Given the description of an element on the screen output the (x, y) to click on. 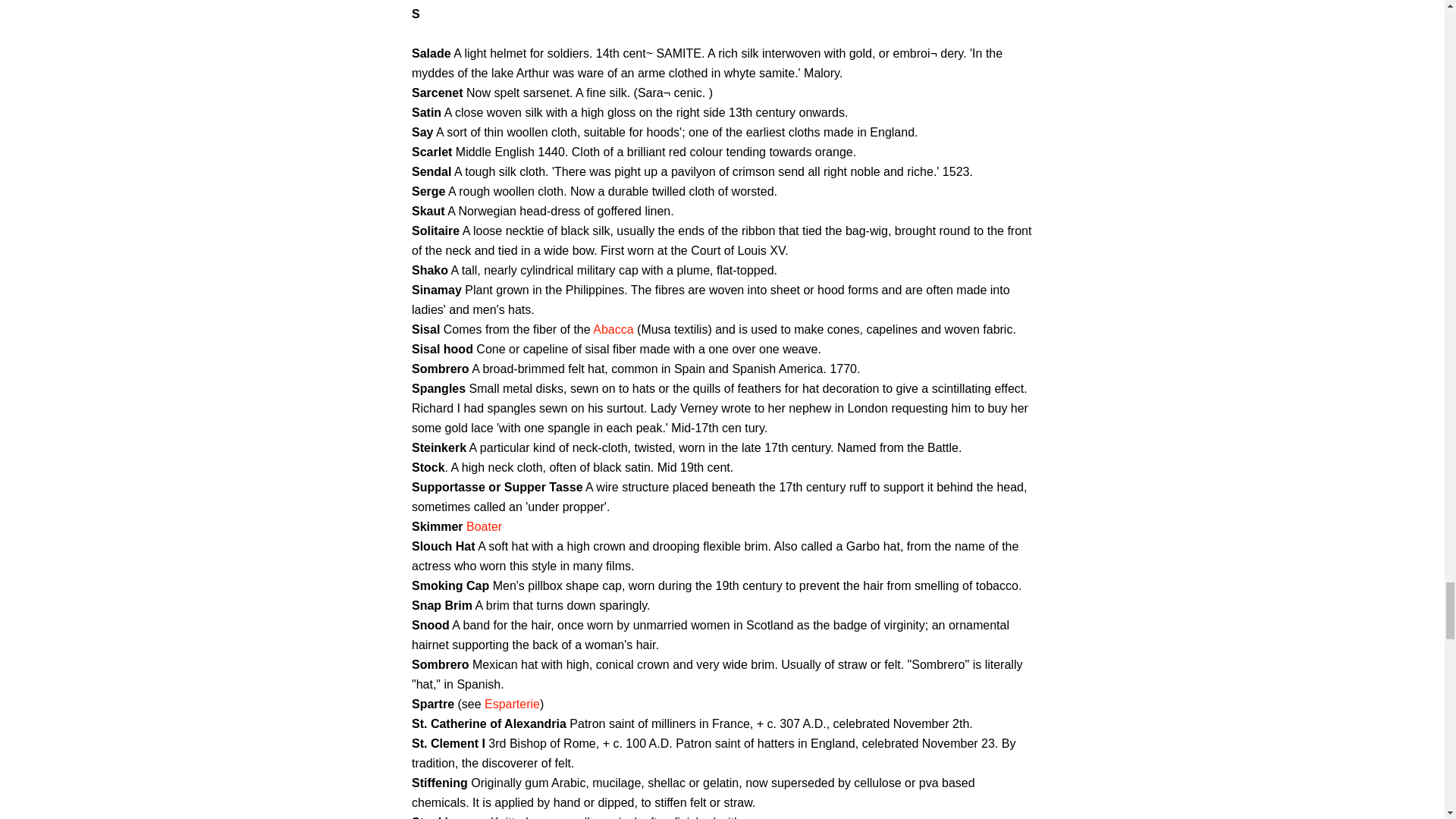
Esparterie (512, 703)
Abacca (612, 328)
Boater (483, 526)
